Given the description of an element on the screen output the (x, y) to click on. 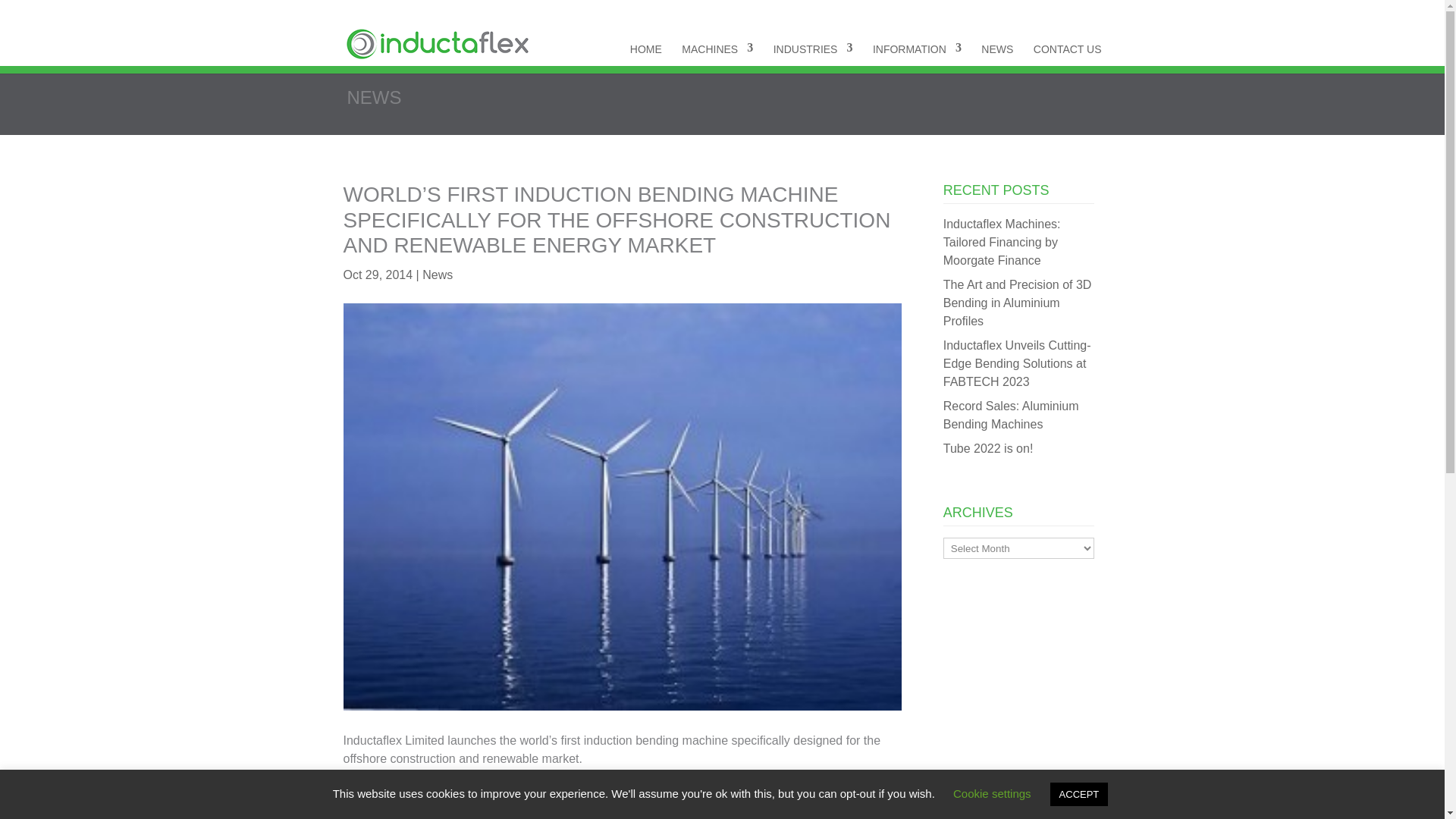
INDUSTRIES (813, 48)
MACHINES (716, 48)
Tube 2022 is on! (988, 448)
CONTACT US (1067, 48)
Inductaflex Machines: Tailored Financing by Moorgate Finance (1002, 241)
HOME (646, 48)
INFORMATION (916, 48)
NEWS (997, 48)
